Given the description of an element on the screen output the (x, y) to click on. 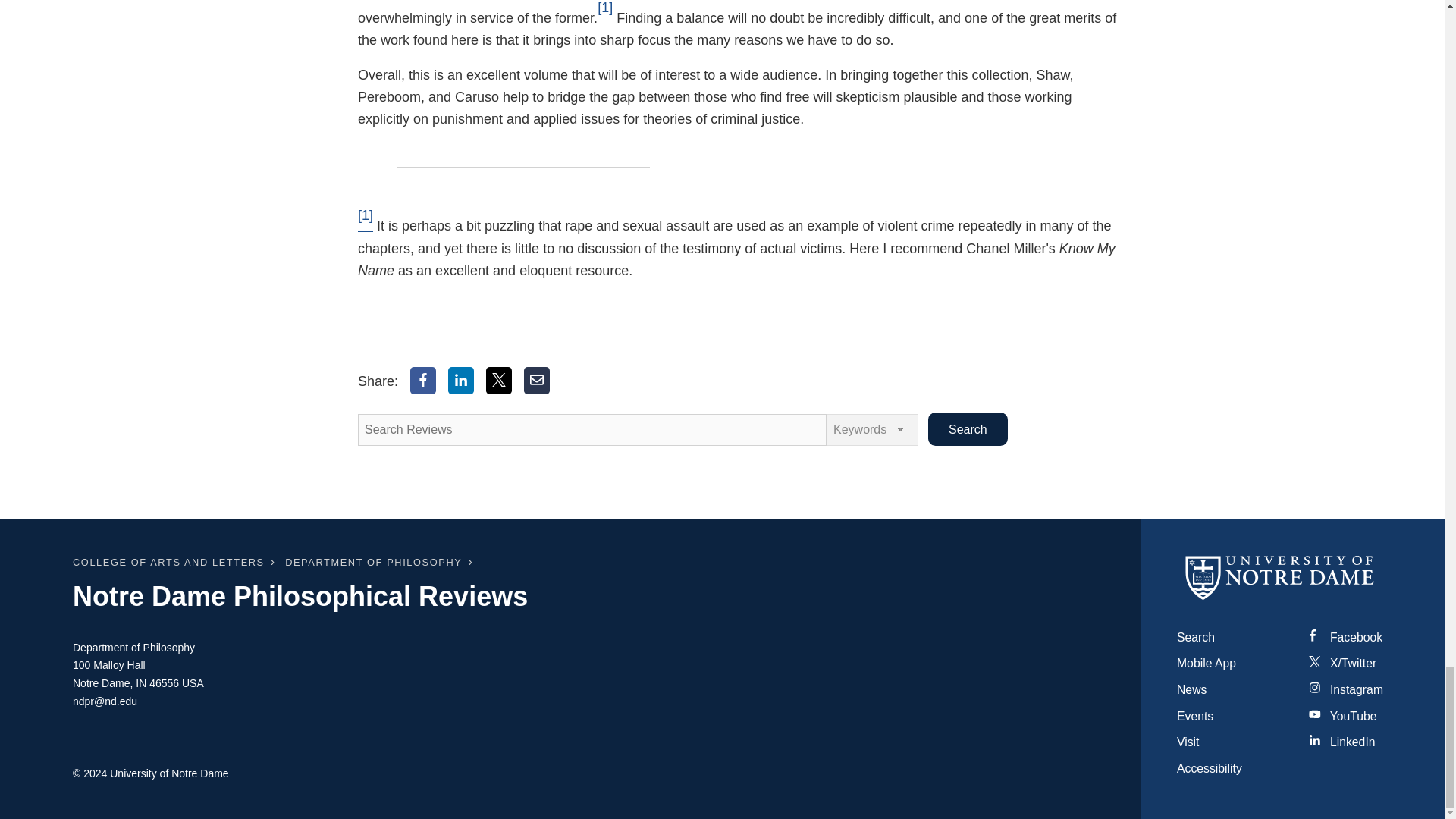
Search (967, 428)
Facebook (422, 379)
Email (537, 379)
LinkedIn (461, 379)
